Given the description of an element on the screen output the (x, y) to click on. 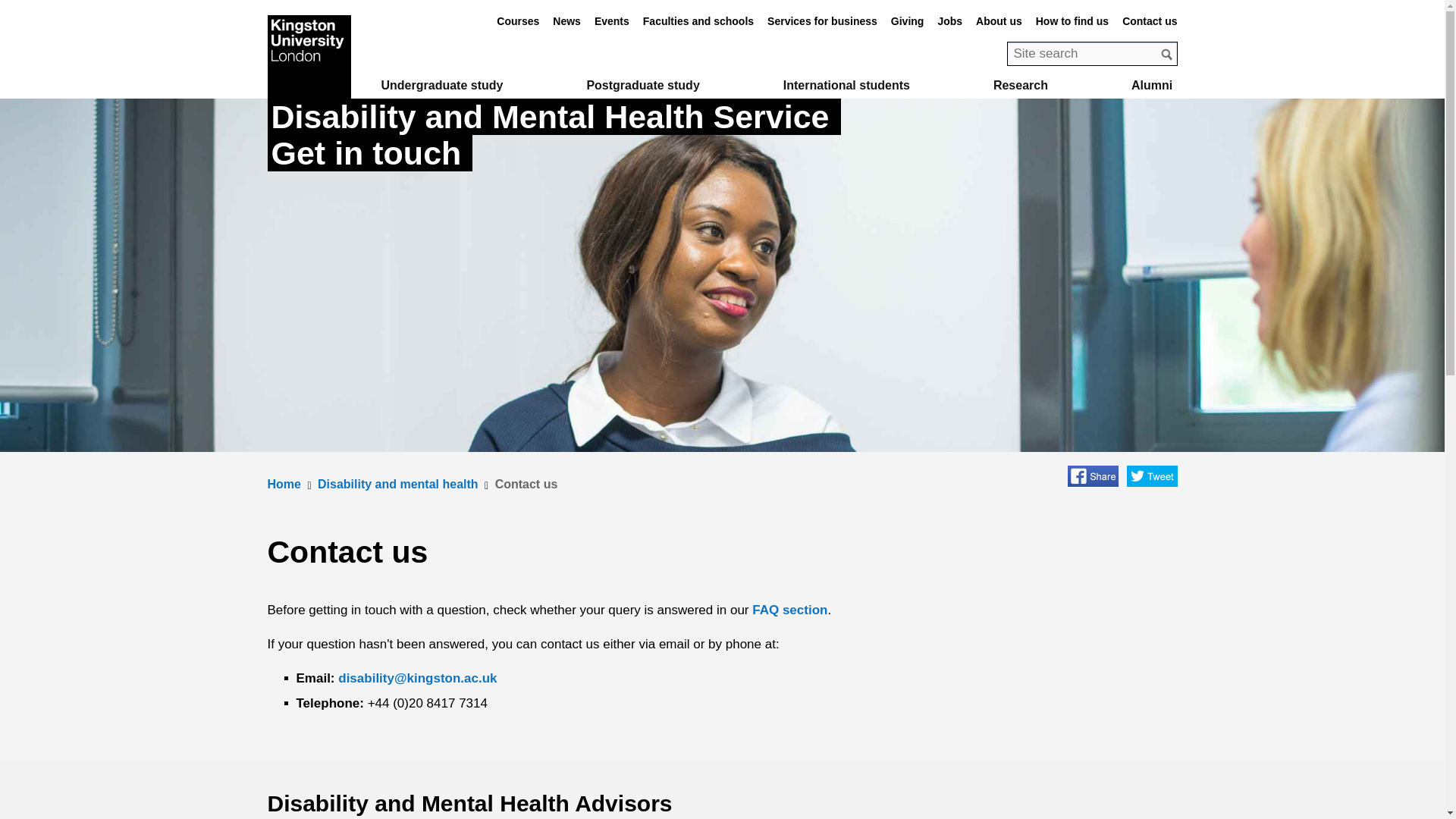
FAQ section (789, 609)
Research at Kingston University (1020, 84)
Giving to Kingston University London (907, 21)
Giving (907, 21)
Contact us (526, 483)
About us (998, 21)
Alumni (1151, 84)
Undergraduate study at Kingston University (441, 84)
International students (846, 84)
